Given the description of an element on the screen output the (x, y) to click on. 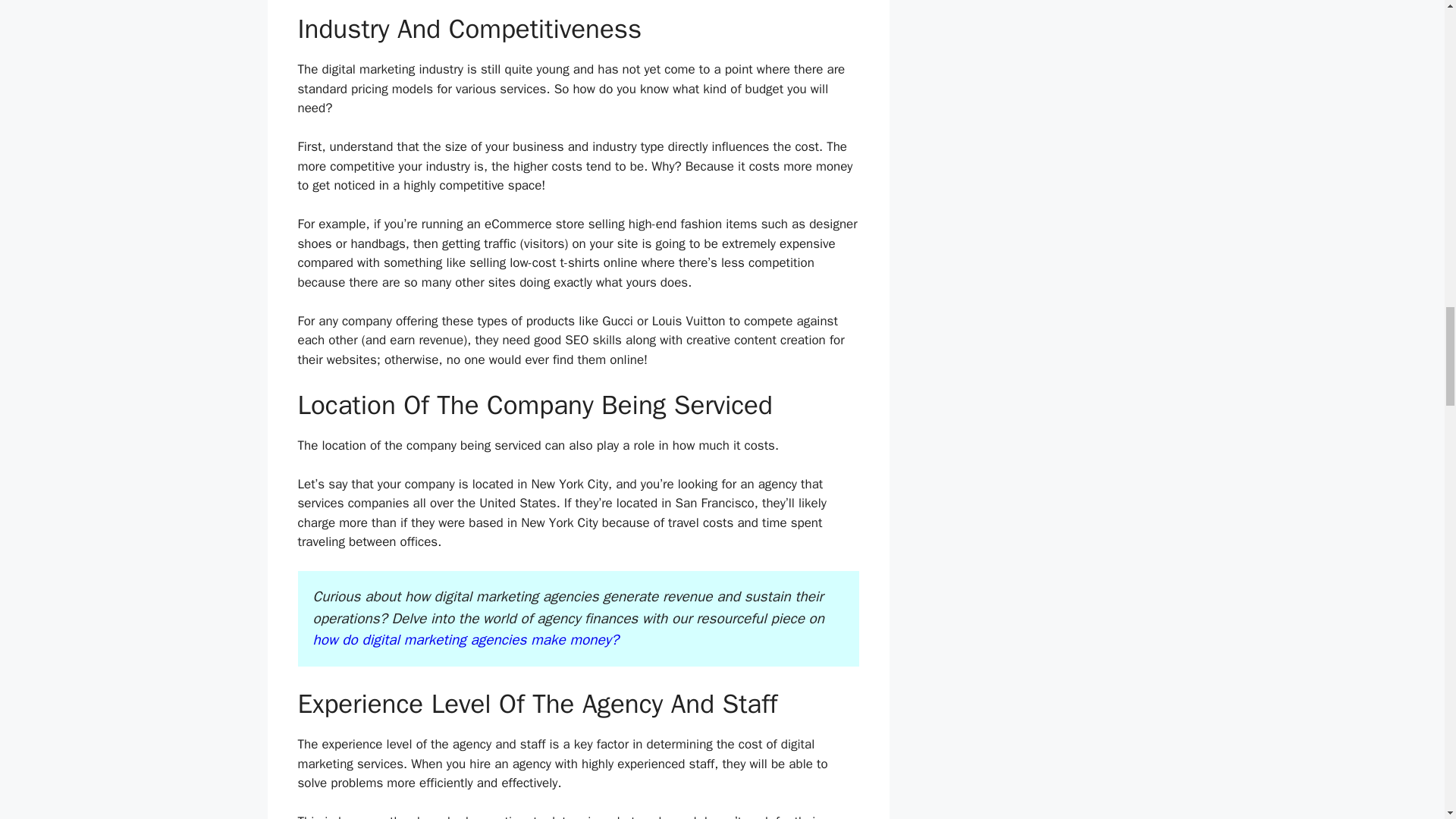
how do digital marketing agencies make money? (465, 639)
